Given the description of an element on the screen output the (x, y) to click on. 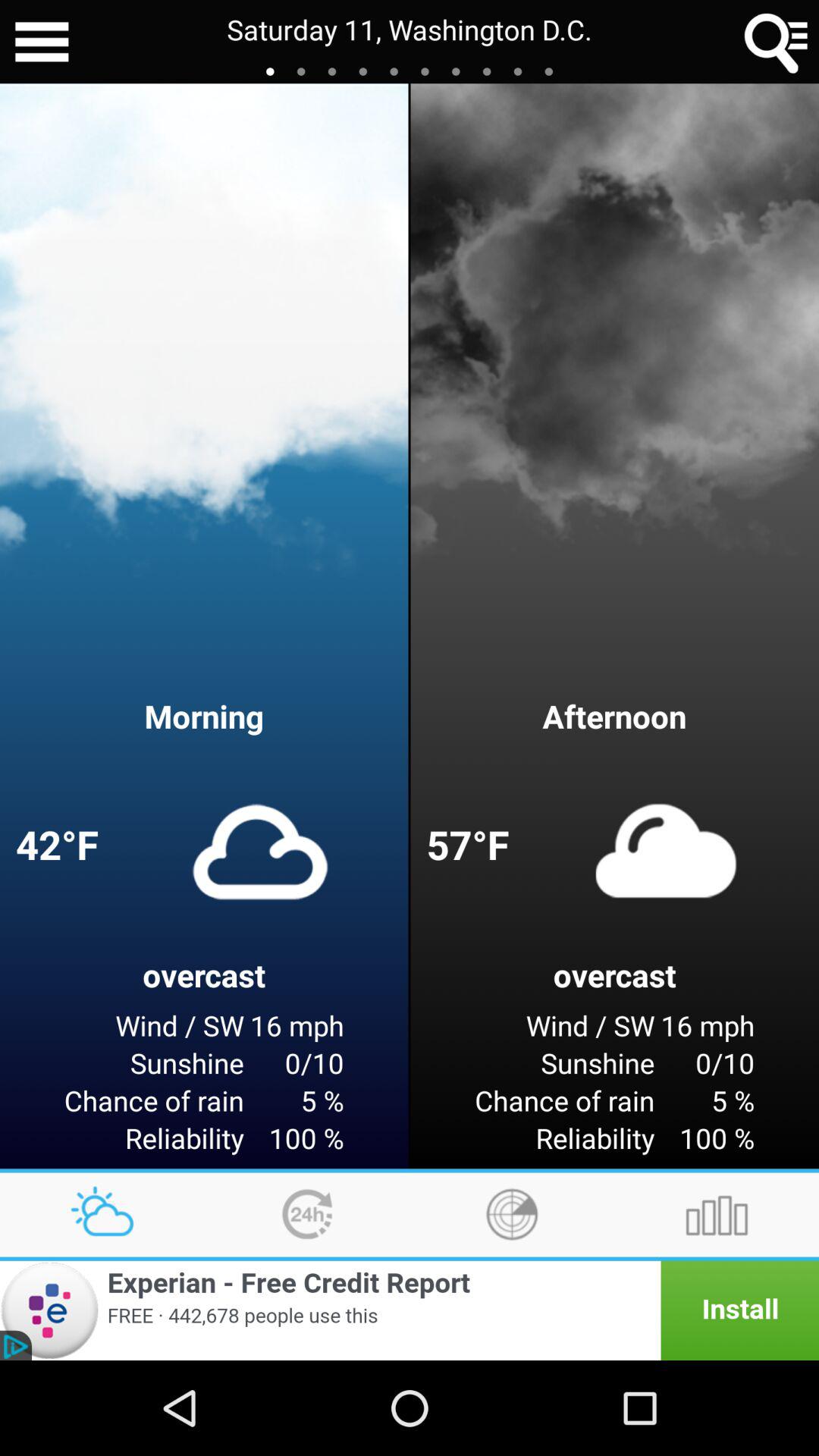
open the menu (41, 41)
